Given the description of an element on the screen output the (x, y) to click on. 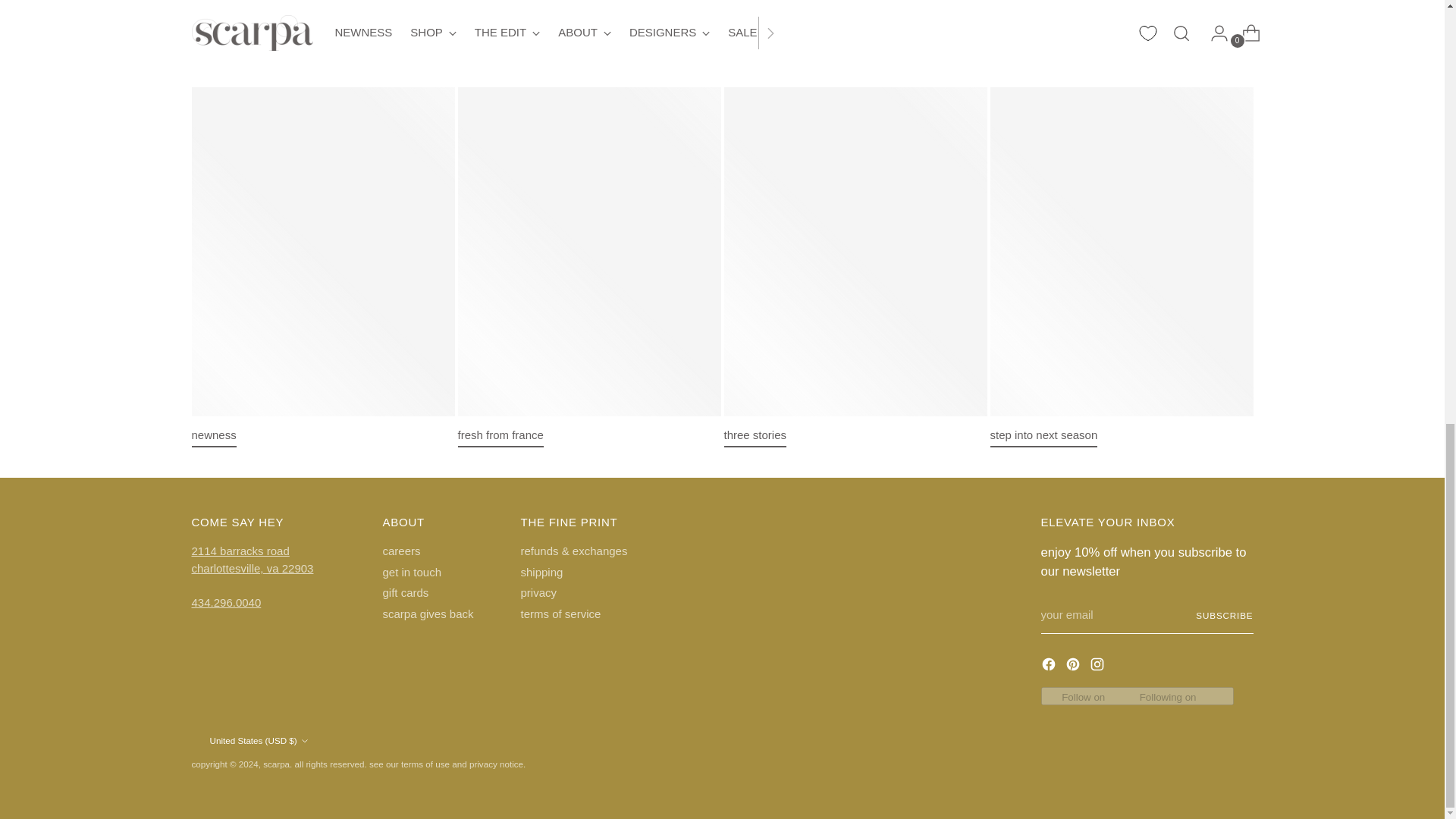
scarpa on Pinterest (1073, 666)
